Given the description of an element on the screen output the (x, y) to click on. 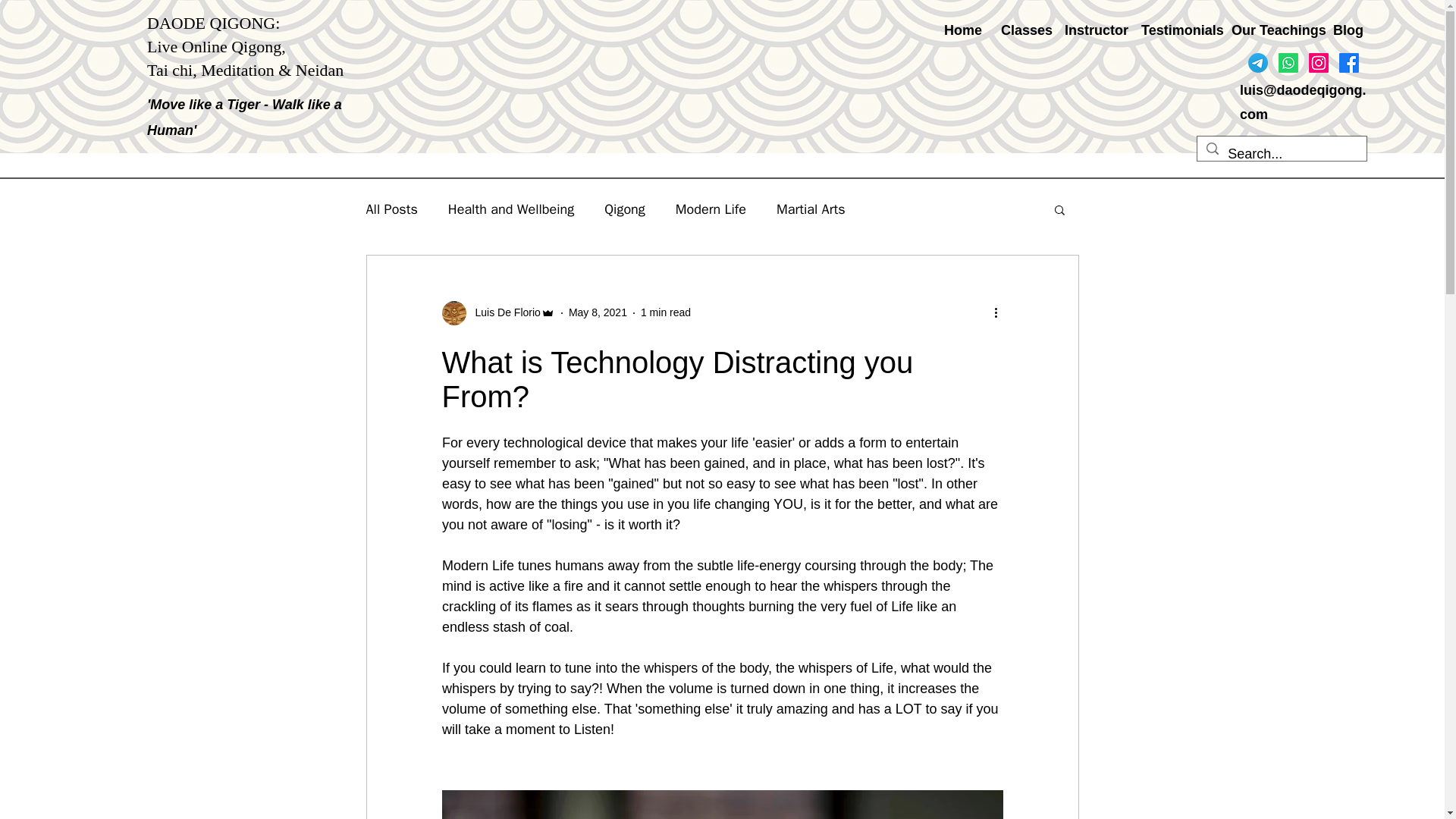
DAODE QIGONG: (213, 22)
Qigong (624, 208)
Health and Wellbeing (510, 208)
Testimonials (1174, 30)
1 min read (665, 312)
Martial Arts (810, 208)
May 8, 2021 (598, 312)
Live Online Qigong, (216, 46)
Luis De Florio (502, 312)
All Posts (390, 208)
Luis De Florio (497, 312)
Instructor (1090, 30)
Blog (1345, 30)
Modern Life (710, 208)
Home (961, 30)
